Given the description of an element on the screen output the (x, y) to click on. 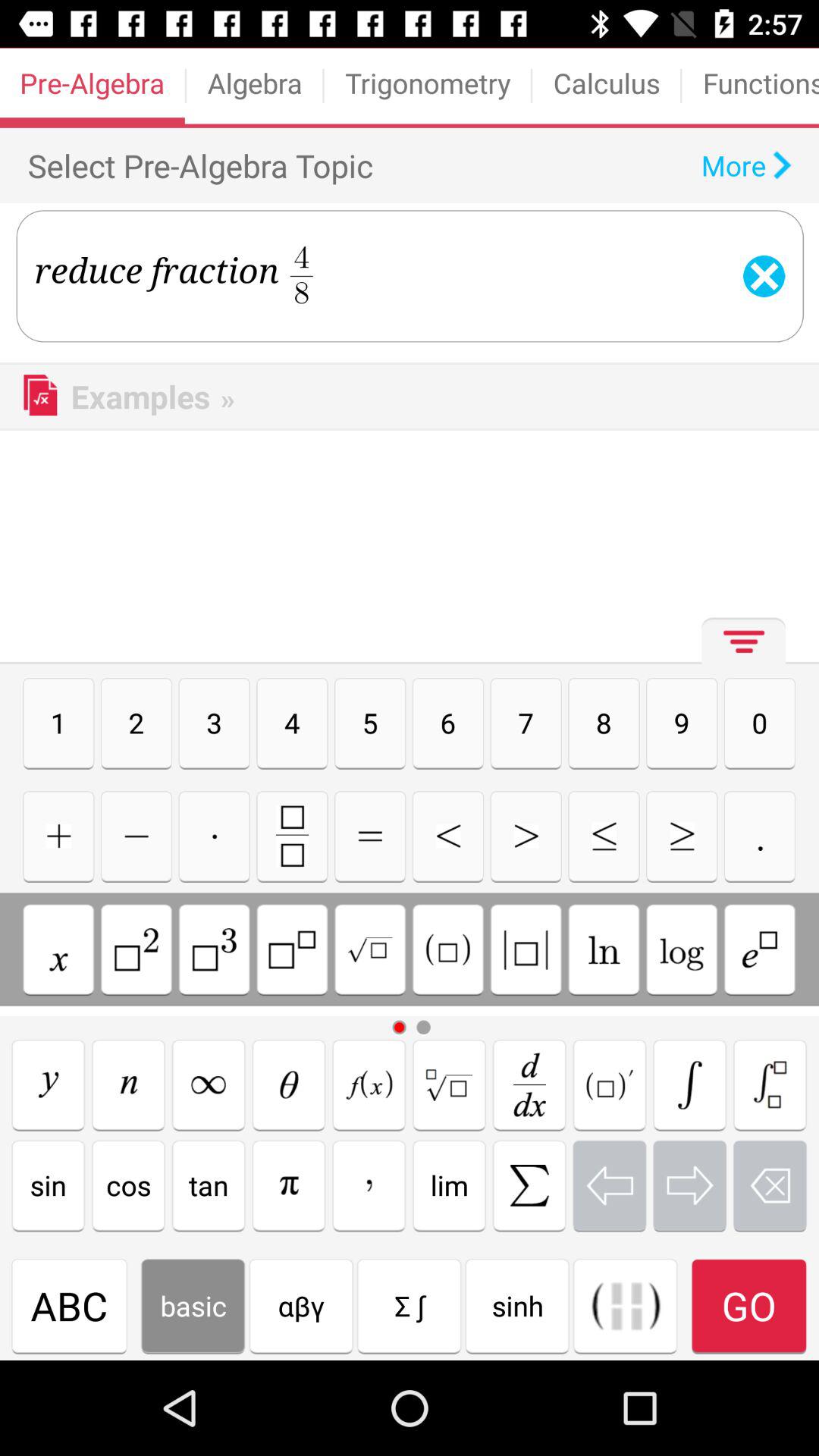
calcutor page (603, 835)
